Given the description of an element on the screen output the (x, y) to click on. 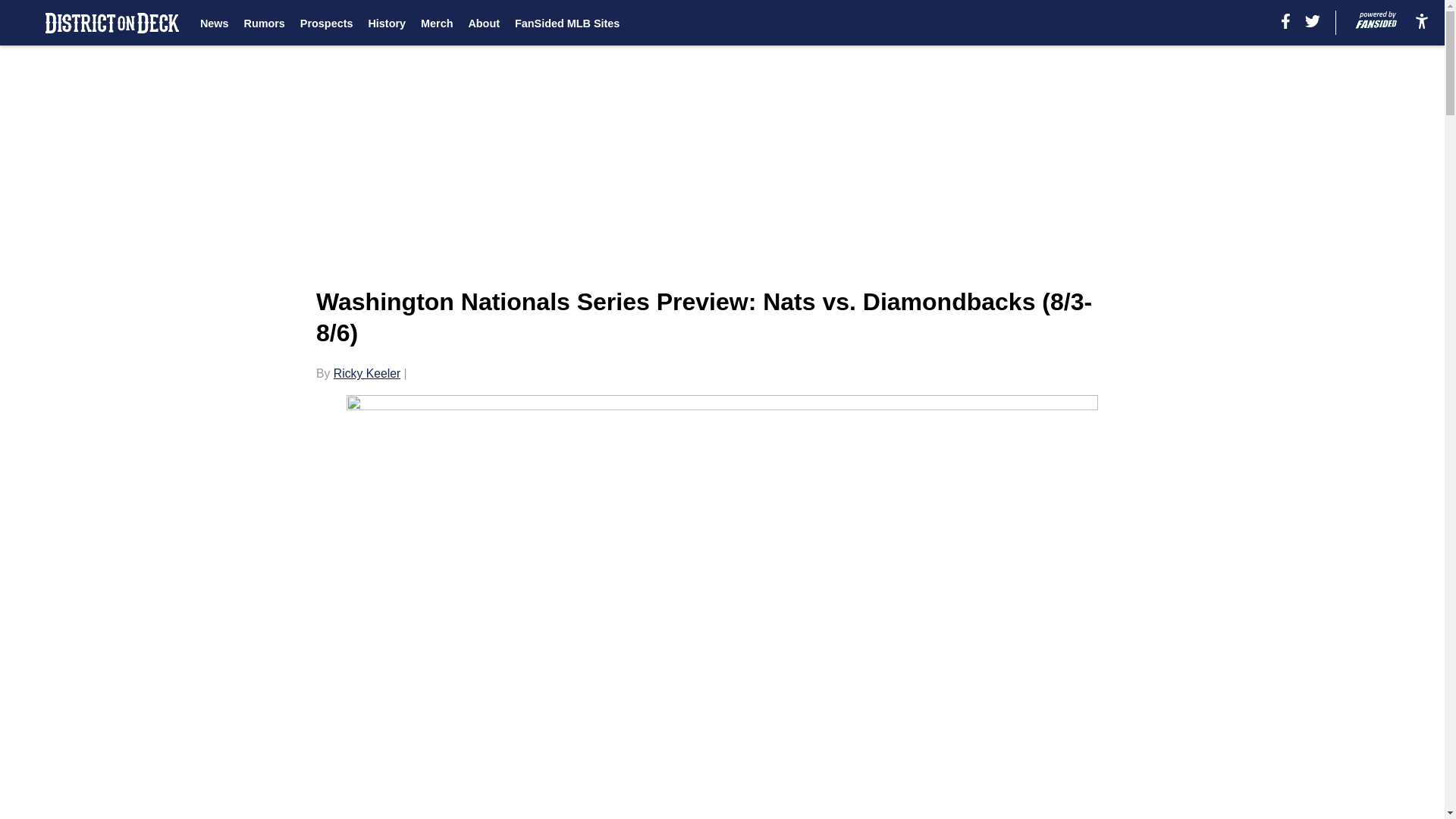
FanSided MLB Sites (567, 23)
History (387, 23)
Prospects (326, 23)
News (214, 23)
Rumors (263, 23)
About (483, 23)
Merch (436, 23)
Ricky Keeler (366, 373)
